Given the description of an element on the screen output the (x, y) to click on. 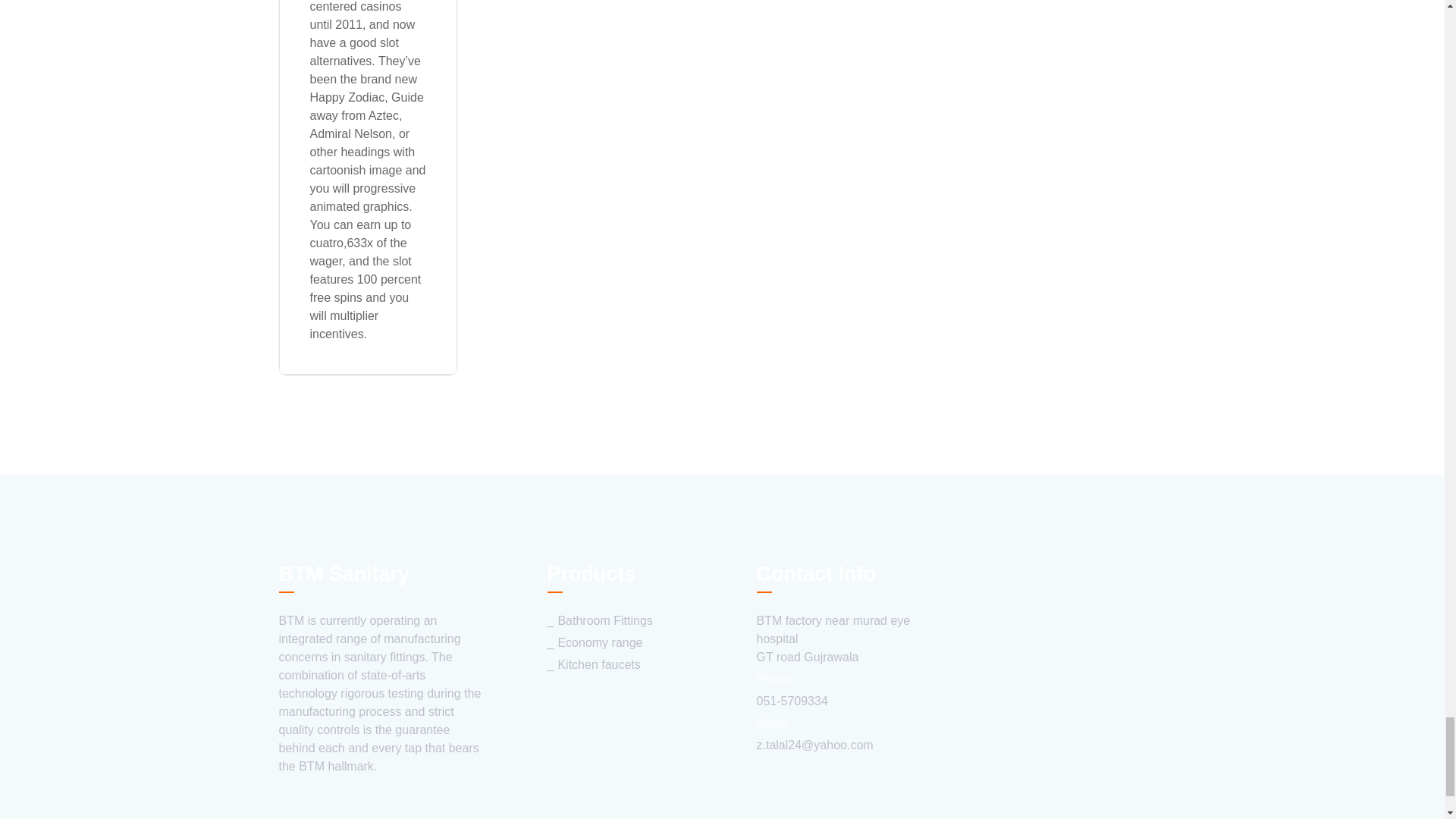
Bathroom Fittings (599, 620)
051-5709334 (792, 700)
Economy range (595, 642)
Kitchen faucets (593, 664)
